Given the description of an element on the screen output the (x, y) to click on. 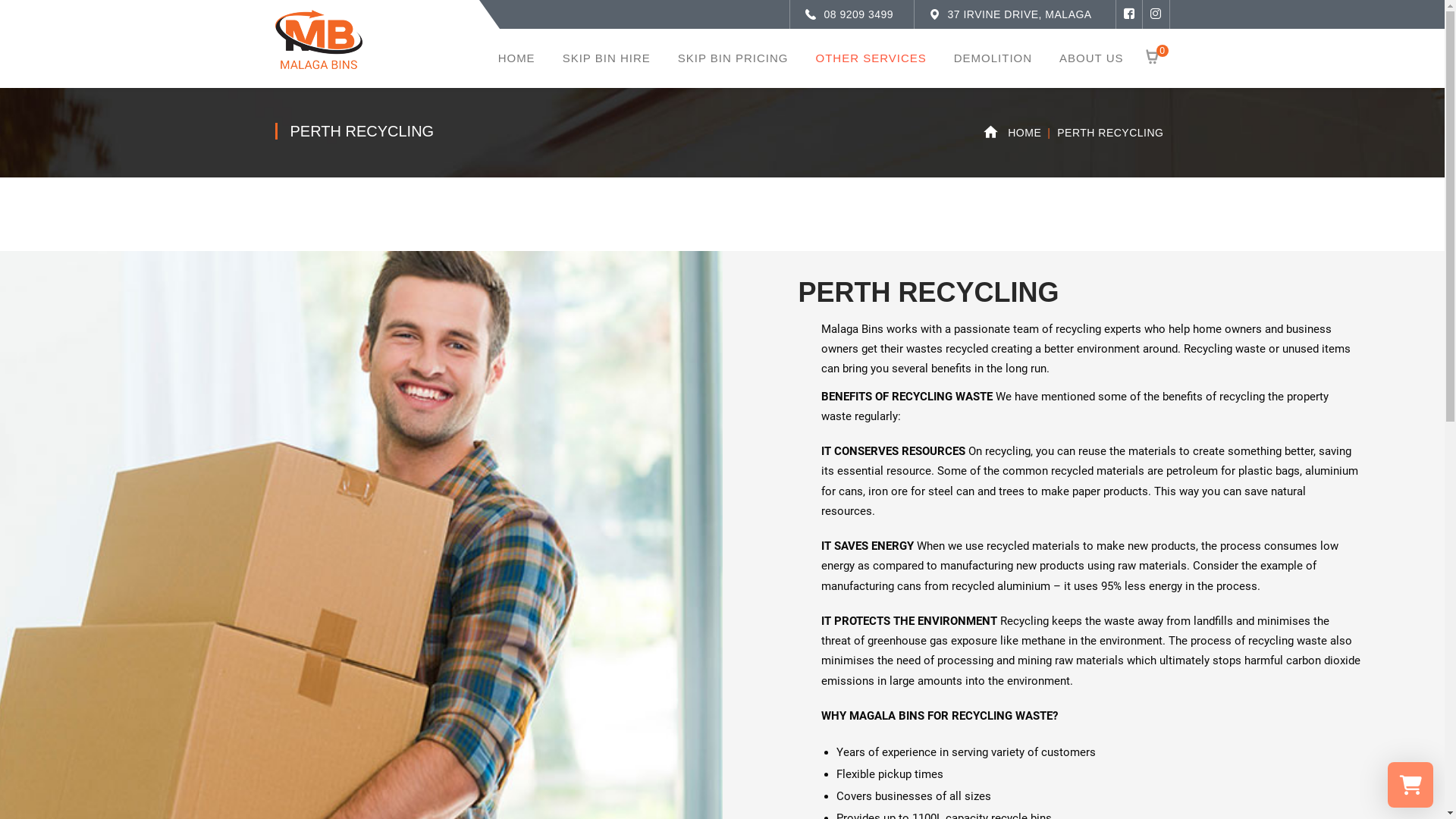
0 Element type: text (1157, 57)
SKIP BIN HIRE Element type: text (606, 57)
DEMOLITION Element type: text (992, 57)
HOME Element type: text (516, 57)
SKIP BIN PRICING Element type: text (732, 57)
OTHER SERVICES Element type: text (870, 57)
HOME Element type: text (1024, 132)
ABOUT US Element type: text (1091, 57)
Instagram Element type: hover (1156, 14)
Facebook Element type: hover (1128, 14)
Skip Bin Hire Element type: hover (317, 38)
